Given the description of an element on the screen output the (x, y) to click on. 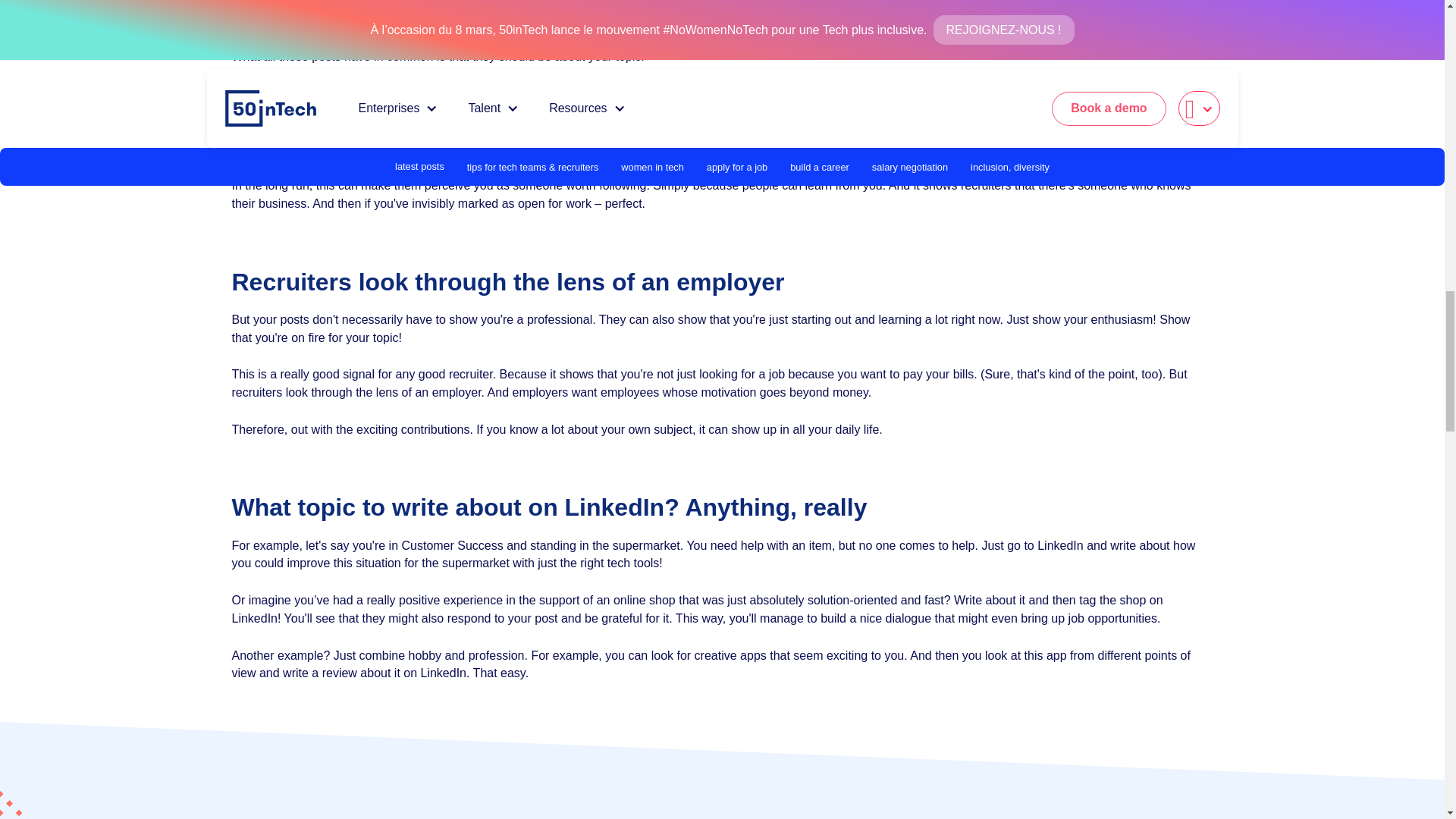
have described in this post (1087, 130)
